Given the description of an element on the screen output the (x, y) to click on. 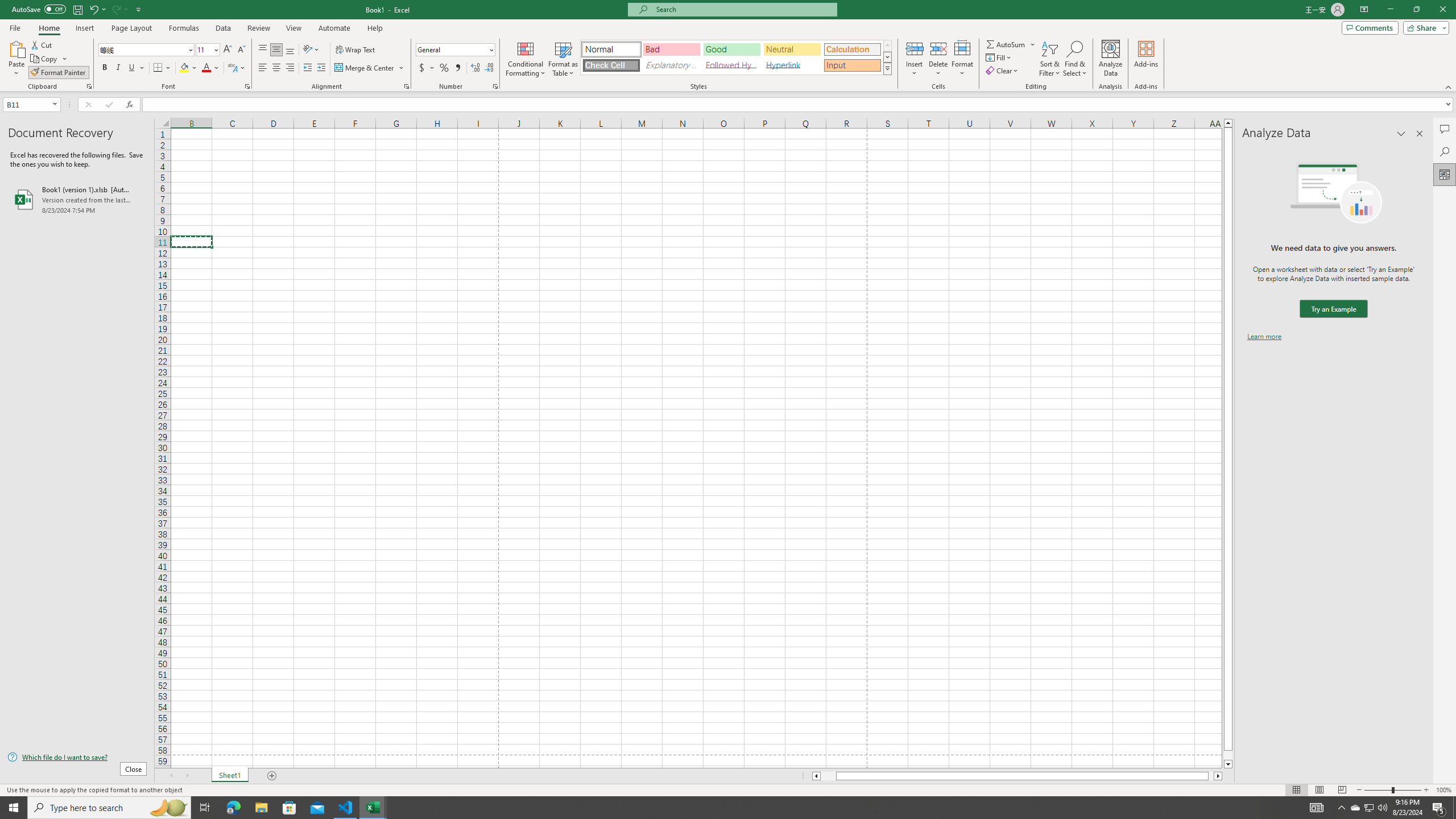
Format as Table (563, 58)
Copy (45, 58)
Neutral (791, 49)
Fill Color RGB(255, 255, 0) (183, 67)
Delete Cells... (938, 48)
Underline (136, 67)
Explanatory Text (671, 65)
